Given the description of an element on the screen output the (x, y) to click on. 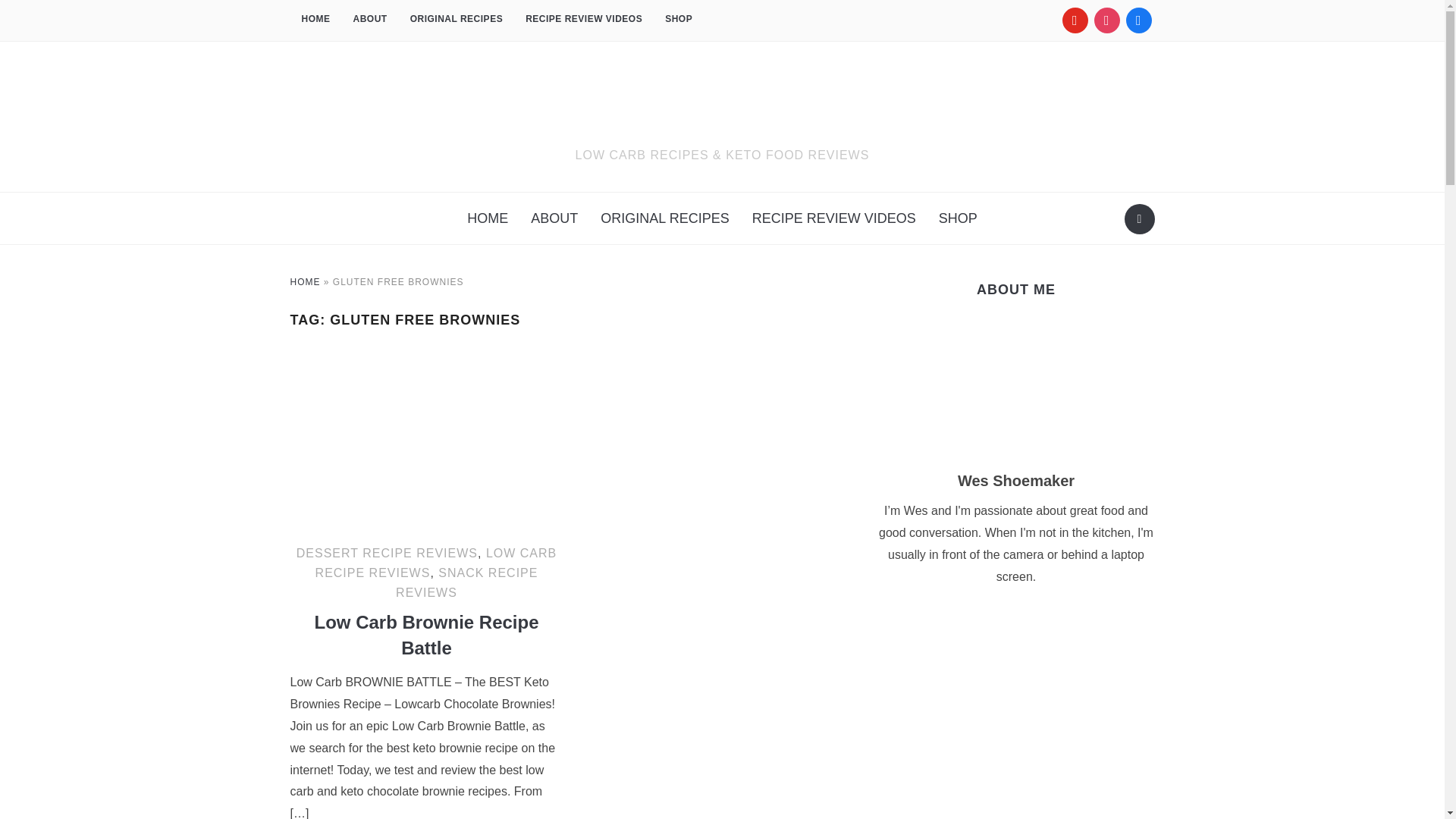
instagram (1106, 19)
ORIGINAL RECIPES (455, 19)
facebook (1138, 19)
Low Carb Brownie Recipe Battle (425, 359)
RECIPE REVIEW VIDEOS (583, 19)
Instagram (1106, 19)
SHOP (678, 19)
HOME (314, 19)
Facebook (1138, 19)
ABOUT (368, 19)
